Given the description of an element on the screen output the (x, y) to click on. 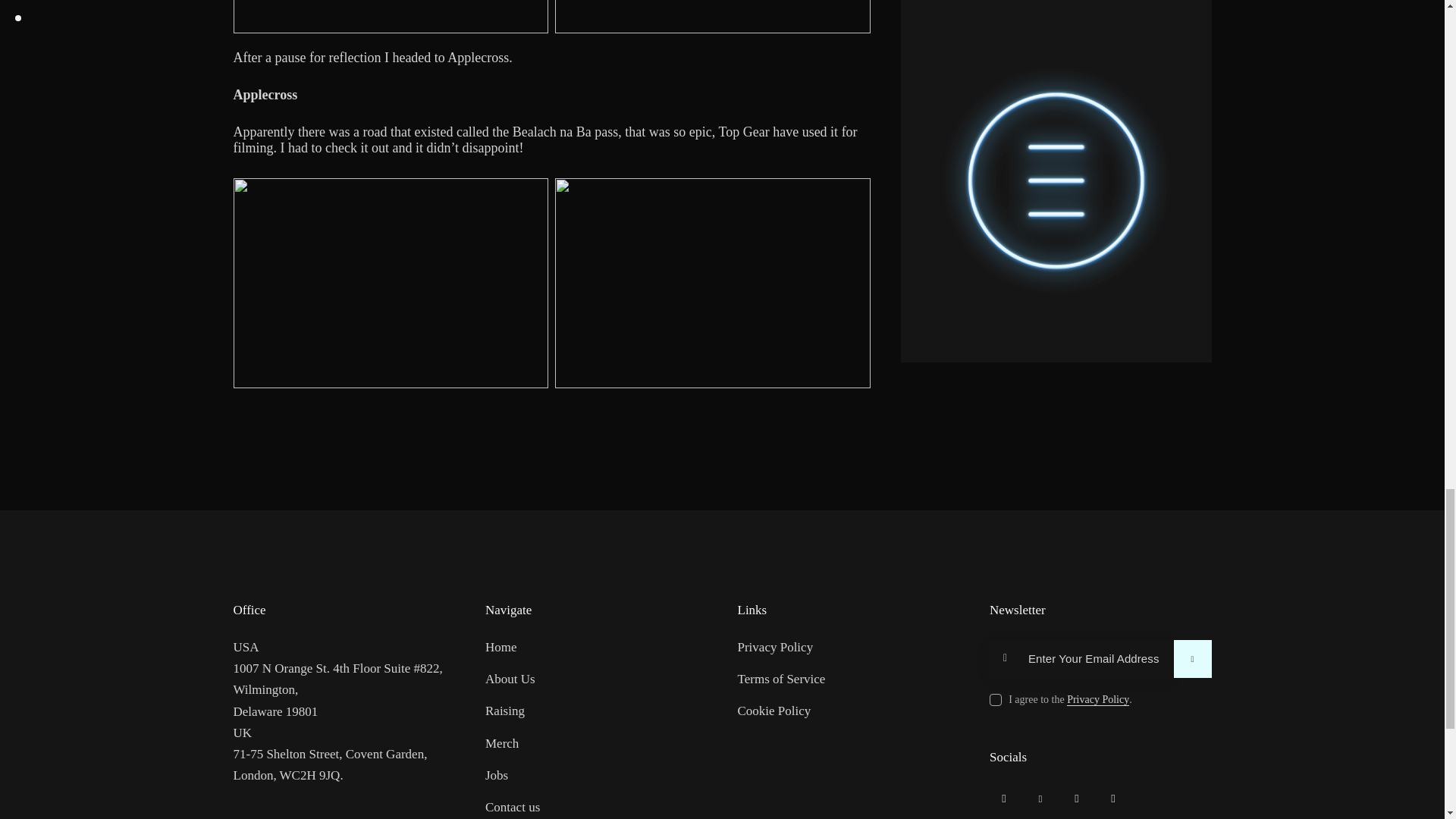
1 (1175, 644)
Cookie Policy (773, 711)
About Us (509, 679)
Subscribe (1192, 658)
Terms of Service (780, 679)
Contact us (512, 807)
Home (500, 647)
Privacy Policy (774, 647)
Merch (501, 742)
Raising (504, 711)
